Given the description of an element on the screen output the (x, y) to click on. 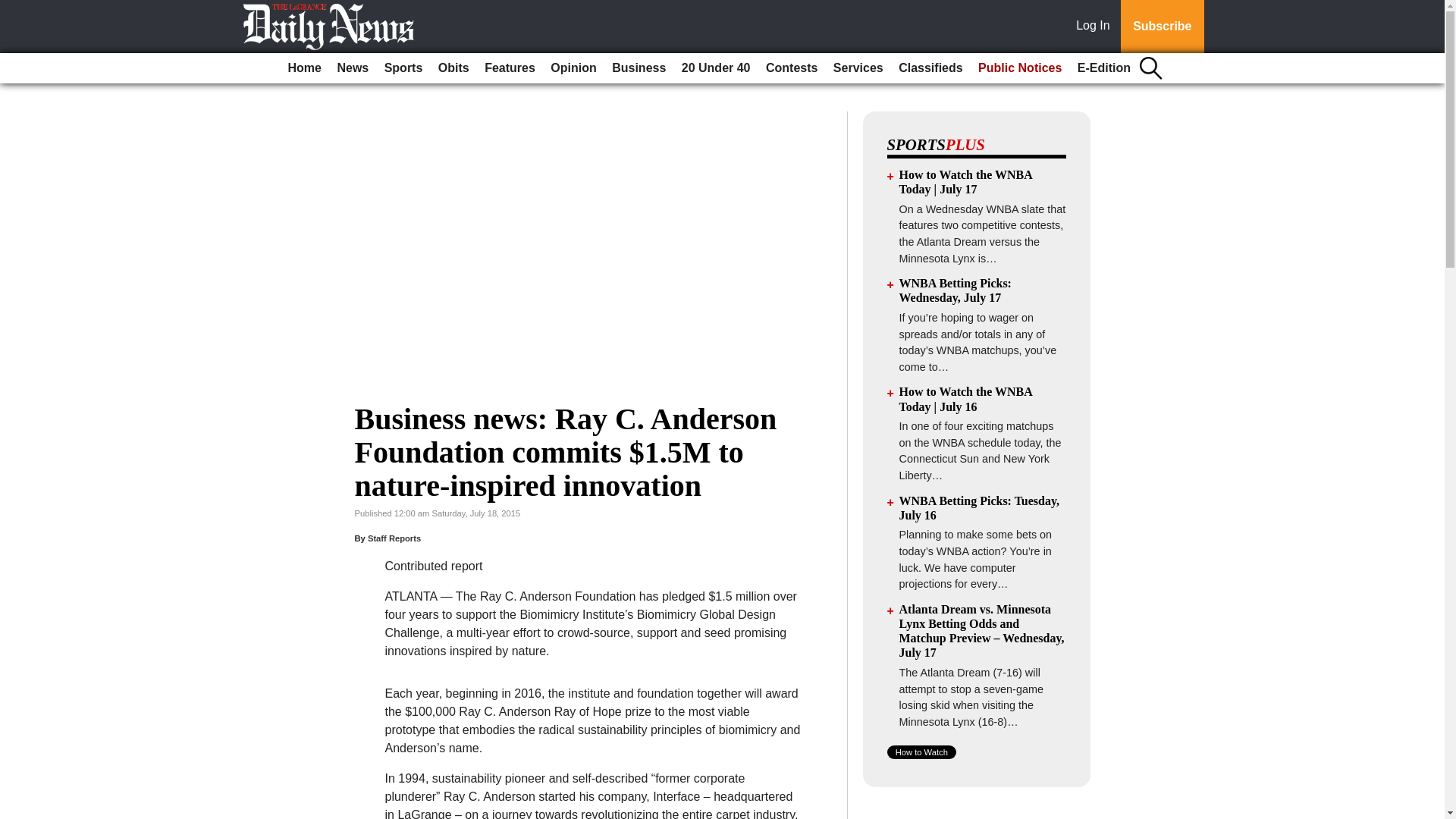
Features (510, 68)
Business (638, 68)
Sports (403, 68)
Go (13, 9)
Contests (792, 68)
Opinion (573, 68)
Obits (454, 68)
How to Watch (921, 752)
20 Under 40 (716, 68)
Home (304, 68)
News (352, 68)
Public Notices (1019, 68)
Classifieds (930, 68)
WNBA Betting Picks: Tuesday, July 16 (979, 507)
WNBA Betting Picks: Wednesday, July 17 (955, 289)
